Given the description of an element on the screen output the (x, y) to click on. 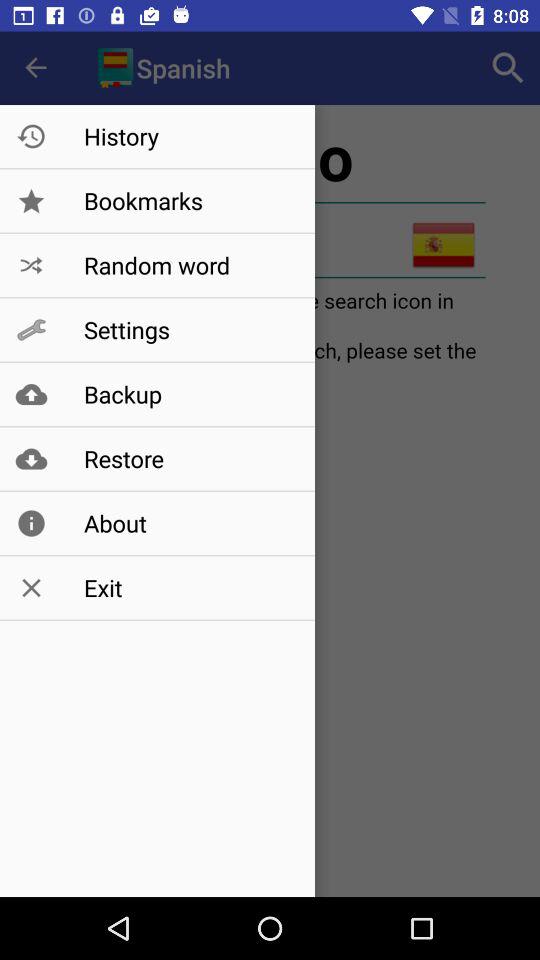
select about item (188, 523)
